Given the description of an element on the screen output the (x, y) to click on. 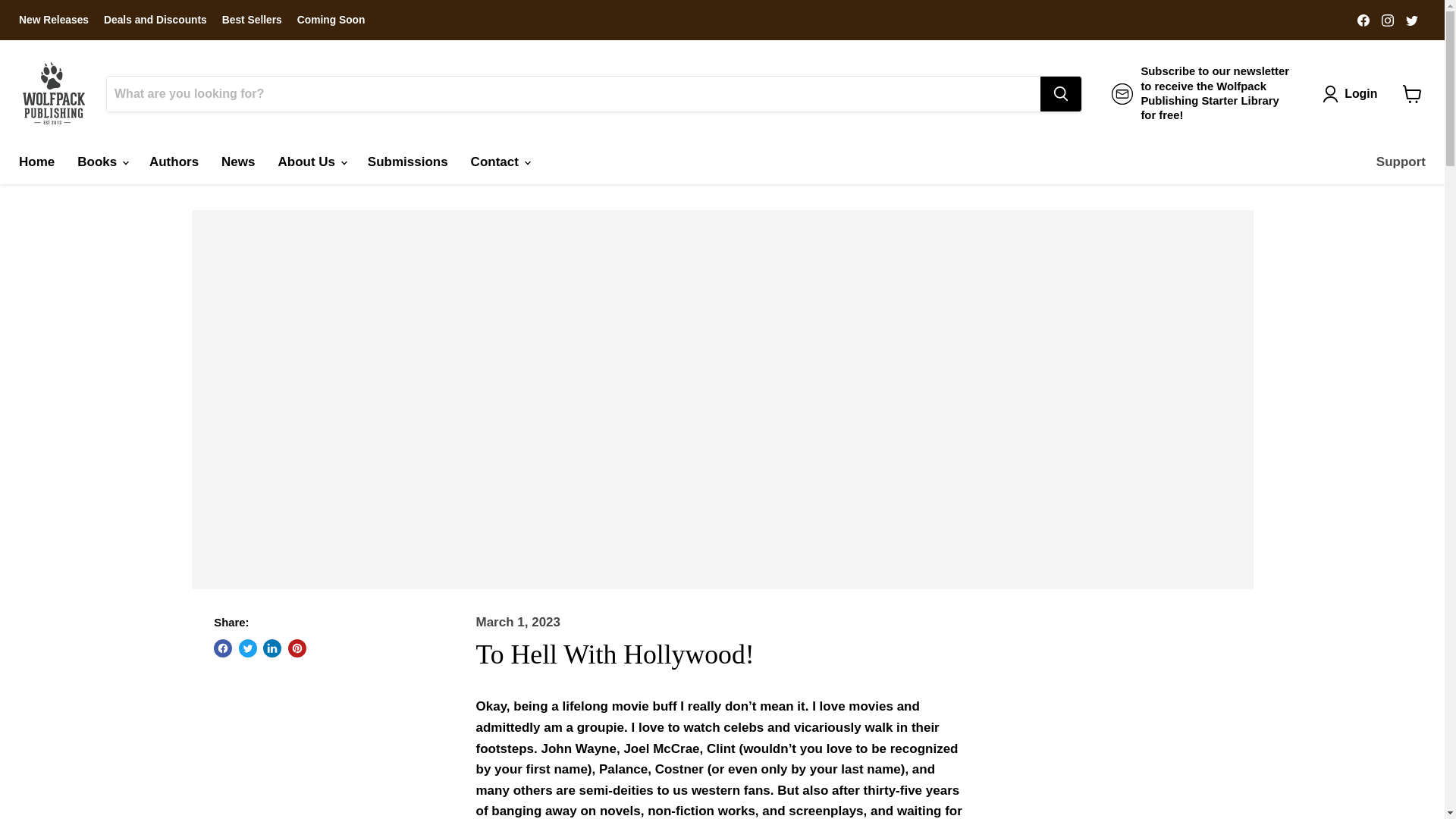
New Releases (53, 20)
Find us on Instagram (1387, 19)
Twitter (1411, 19)
Deals and Discounts (154, 20)
Instagram (1387, 19)
Find us on Twitter (1411, 19)
View cart (1411, 93)
Login (1353, 93)
Find us on Facebook (1363, 19)
Best Sellers (252, 20)
Coming Soon (331, 20)
Facebook (1363, 19)
Home (36, 161)
